Given the description of an element on the screen output the (x, y) to click on. 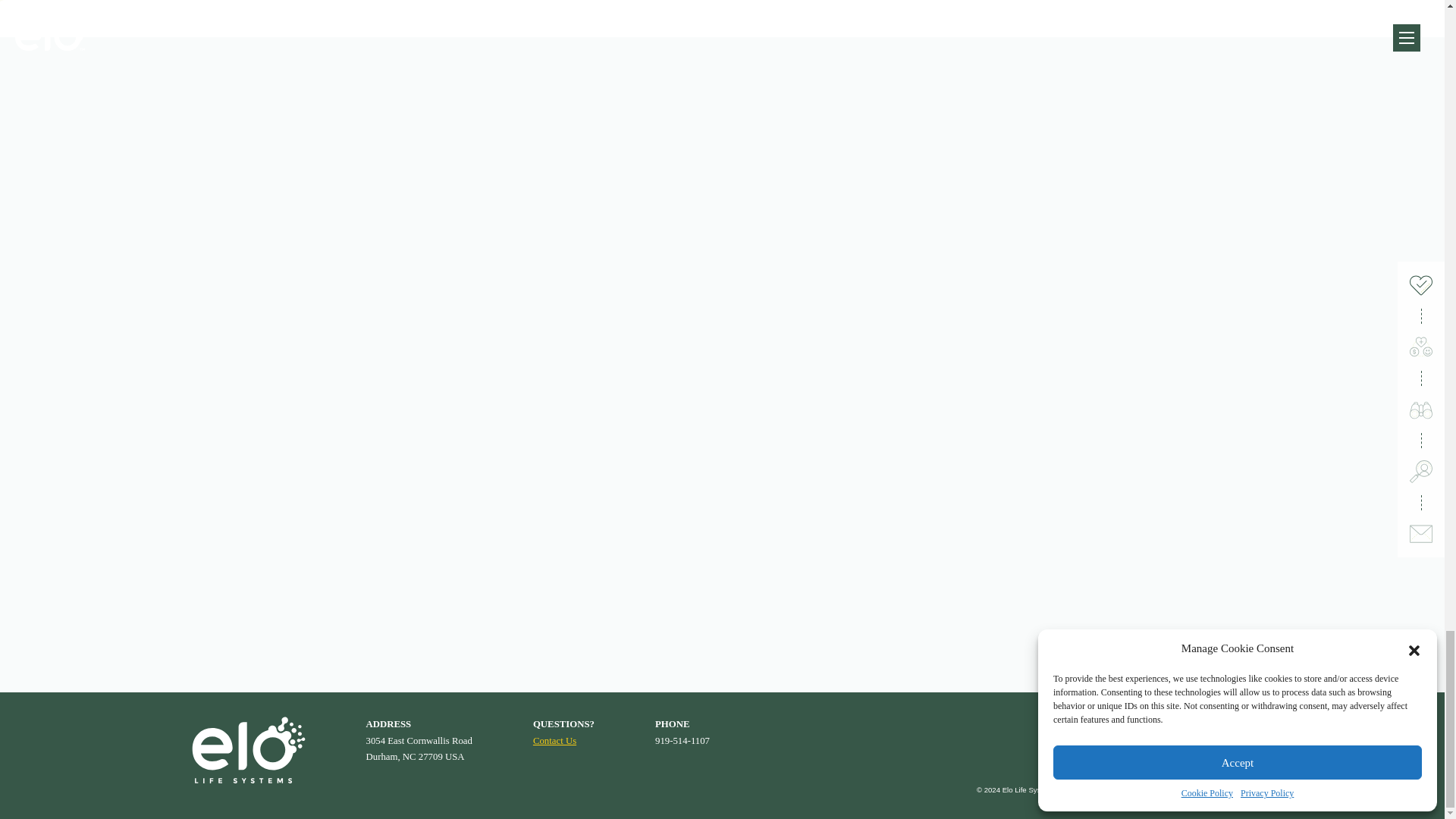
Contact Us (554, 740)
919-514-1107 (682, 740)
